Given the description of an element on the screen output the (x, y) to click on. 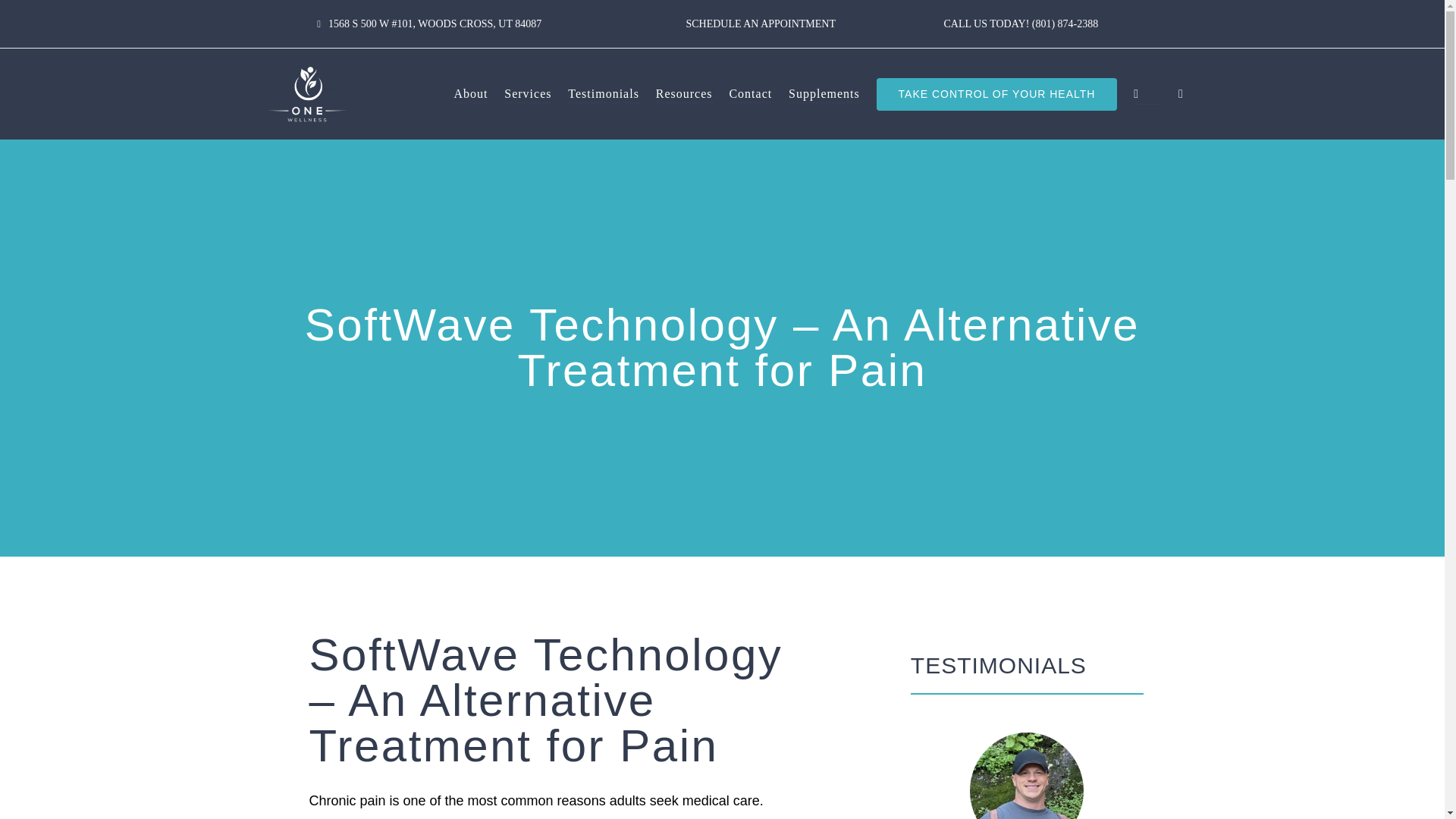
Supplements (824, 94)
About (469, 94)
SCHEDULE AN APPOINTMENT (760, 23)
Resources (684, 94)
Services (527, 94)
TAKE CONTROL OF YOUR HEALTH (997, 93)
Testimonials (603, 94)
Contact (750, 94)
